Given the description of an element on the screen output the (x, y) to click on. 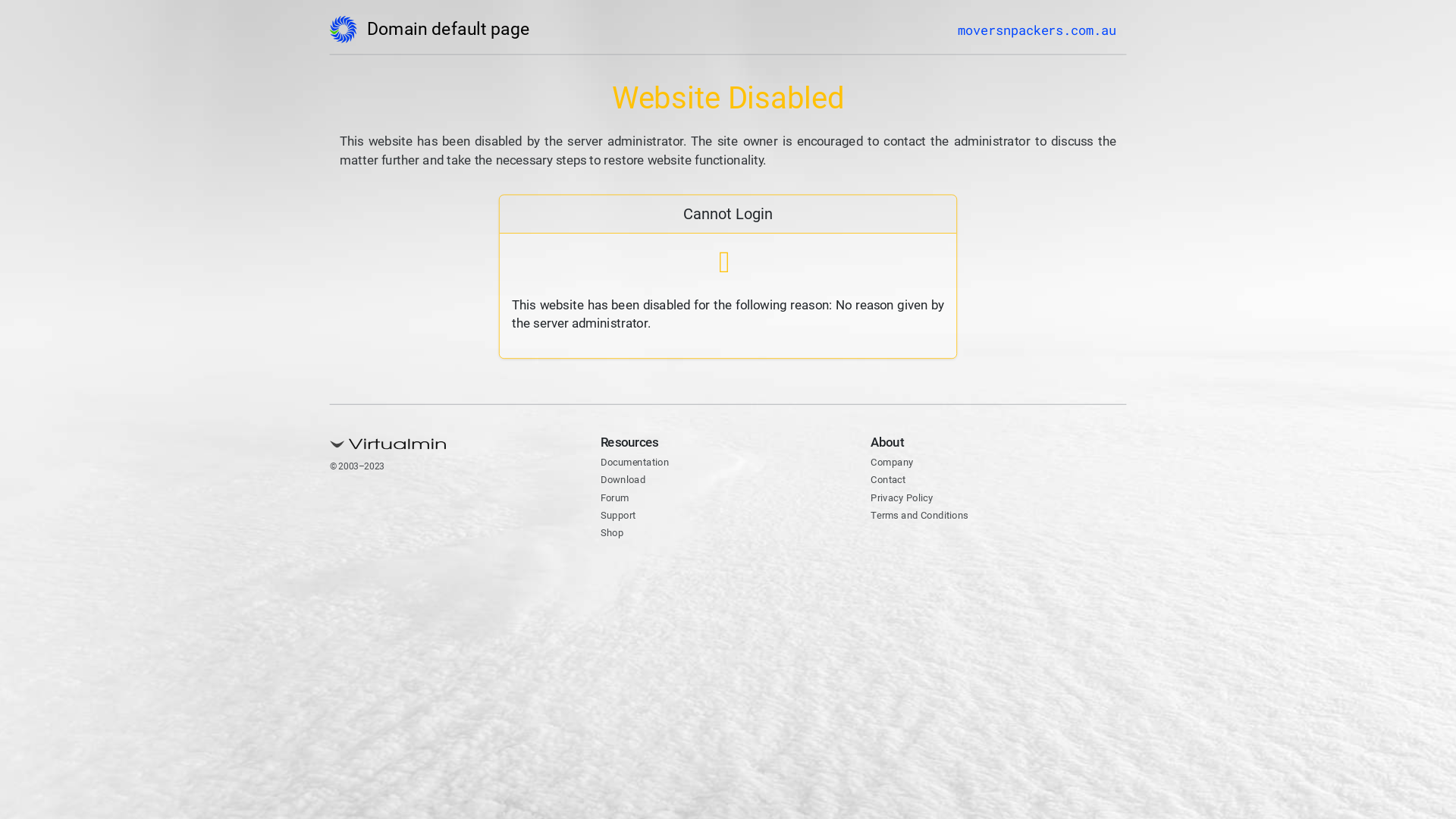
Terms and Conditions Element type: text (929, 515)
Forum Element type: text (617, 498)
Support Element type: text (621, 515)
Domain default page Element type: text (450, 32)
Contact Element type: text (891, 480)
Privacy Policy Element type: text (907, 498)
Documentation Element type: text (641, 463)
Shop Element type: text (614, 534)
Company Element type: text (896, 463)
Download Element type: text (627, 480)
